Given the description of an element on the screen output the (x, y) to click on. 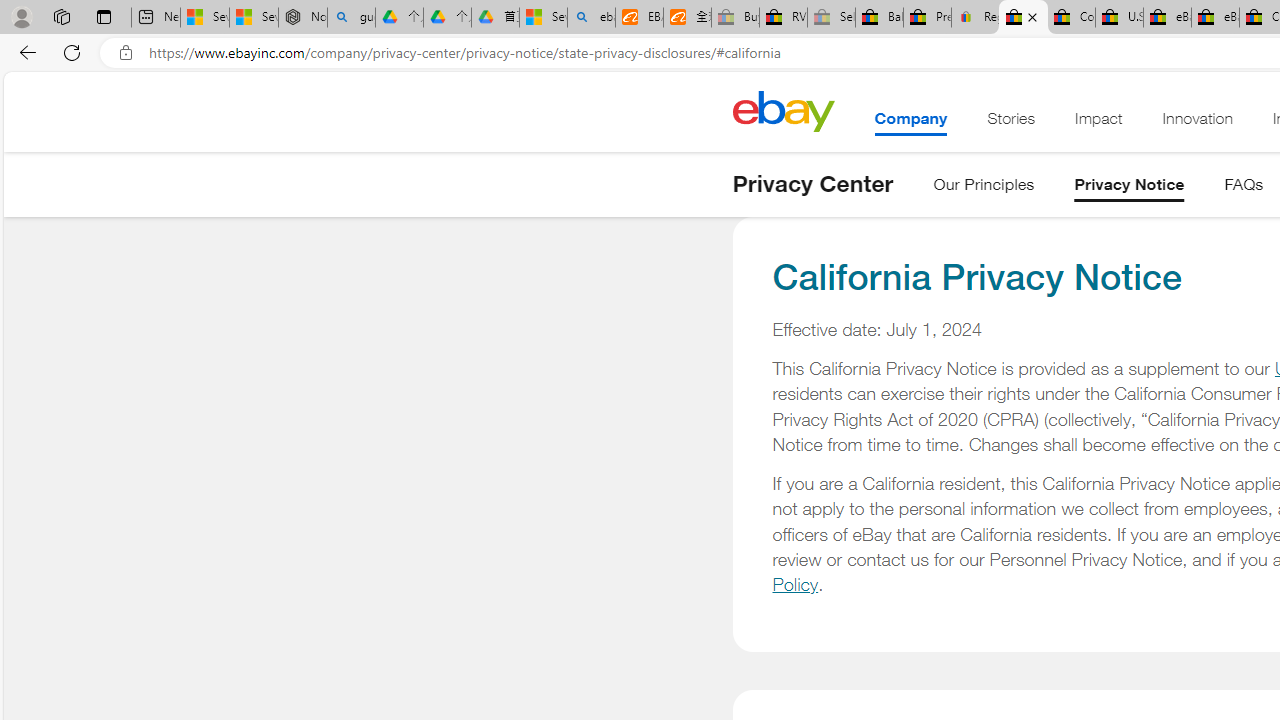
Press Room - eBay Inc. (927, 17)
Register: Create a personal eBay account (975, 17)
Sell worldwide with eBay - Sleeping (831, 17)
FAQs (1243, 188)
guge yunpan - Search (351, 17)
Buy Auto Parts & Accessories | eBay - Sleeping (735, 17)
Consumer Health Data Privacy Policy - eBay Inc. (1071, 17)
U.S. State Privacy Disclosures - eBay Inc. (1119, 17)
